Given the description of an element on the screen output the (x, y) to click on. 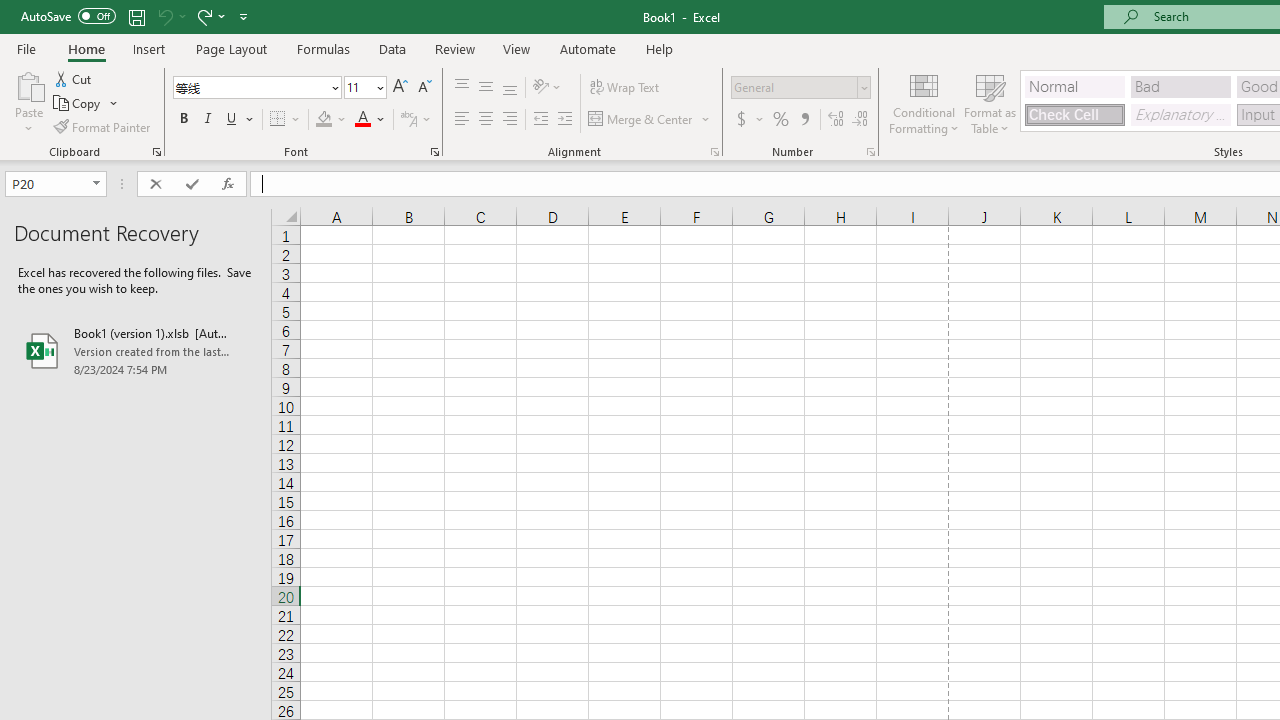
Home (86, 48)
Increase Decimal (836, 119)
Format Cell Alignment (714, 151)
Comma Style (804, 119)
Automate (588, 48)
Italic (207, 119)
View (517, 48)
Fill Color (331, 119)
Help (660, 48)
Top Align (461, 87)
Accounting Number Format (749, 119)
Center (485, 119)
Review (454, 48)
